Given the description of an element on the screen output the (x, y) to click on. 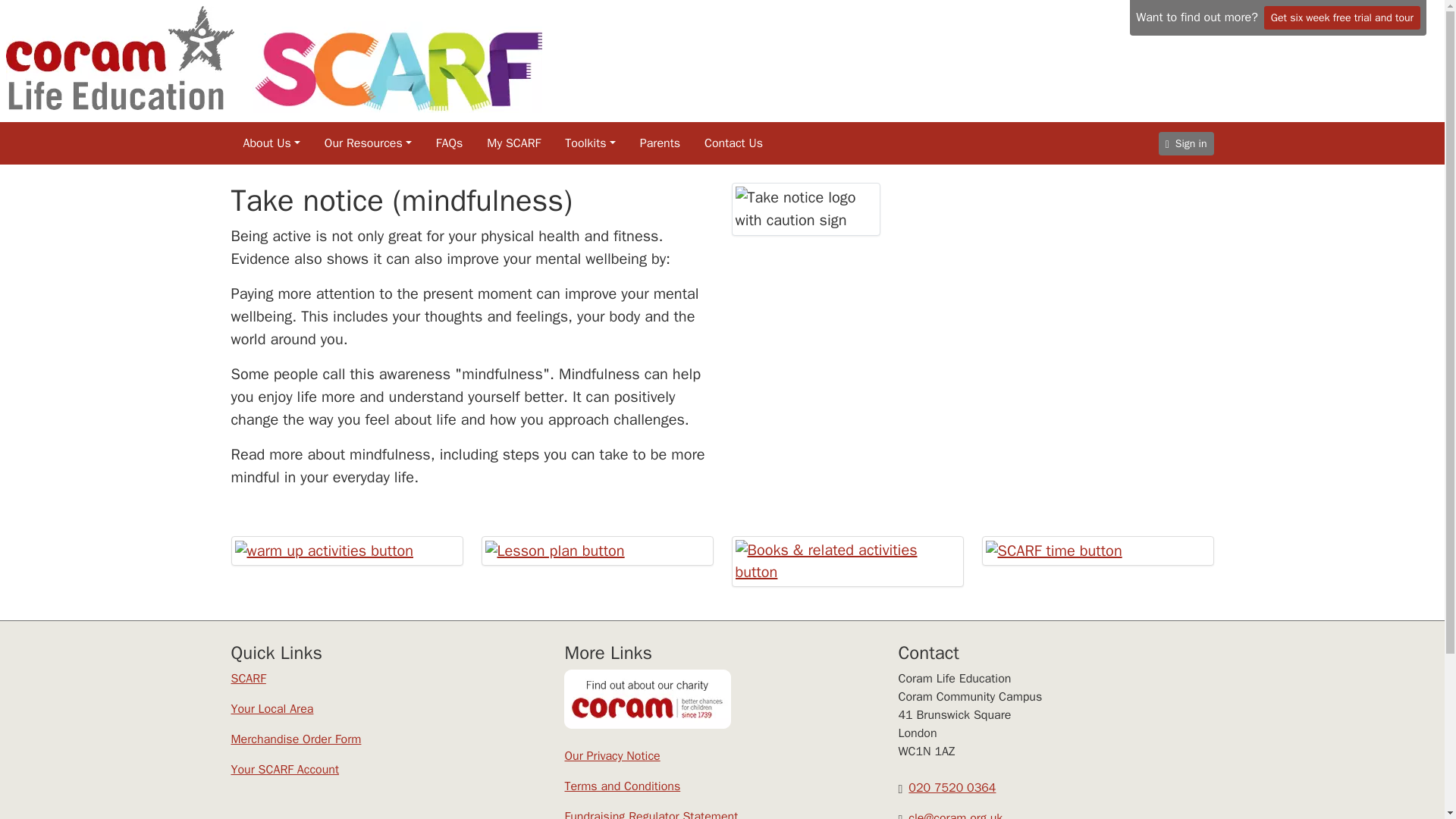
Parents (659, 142)
Sign in (1186, 143)
Get six week free trial and tour (1342, 17)
My SCARF (513, 142)
Your Local Area (271, 708)
Contact Us (733, 142)
Merchandise Order Form (295, 739)
FAQs (448, 142)
About Us (270, 142)
Our Resources (367, 142)
